Given the description of an element on the screen output the (x, y) to click on. 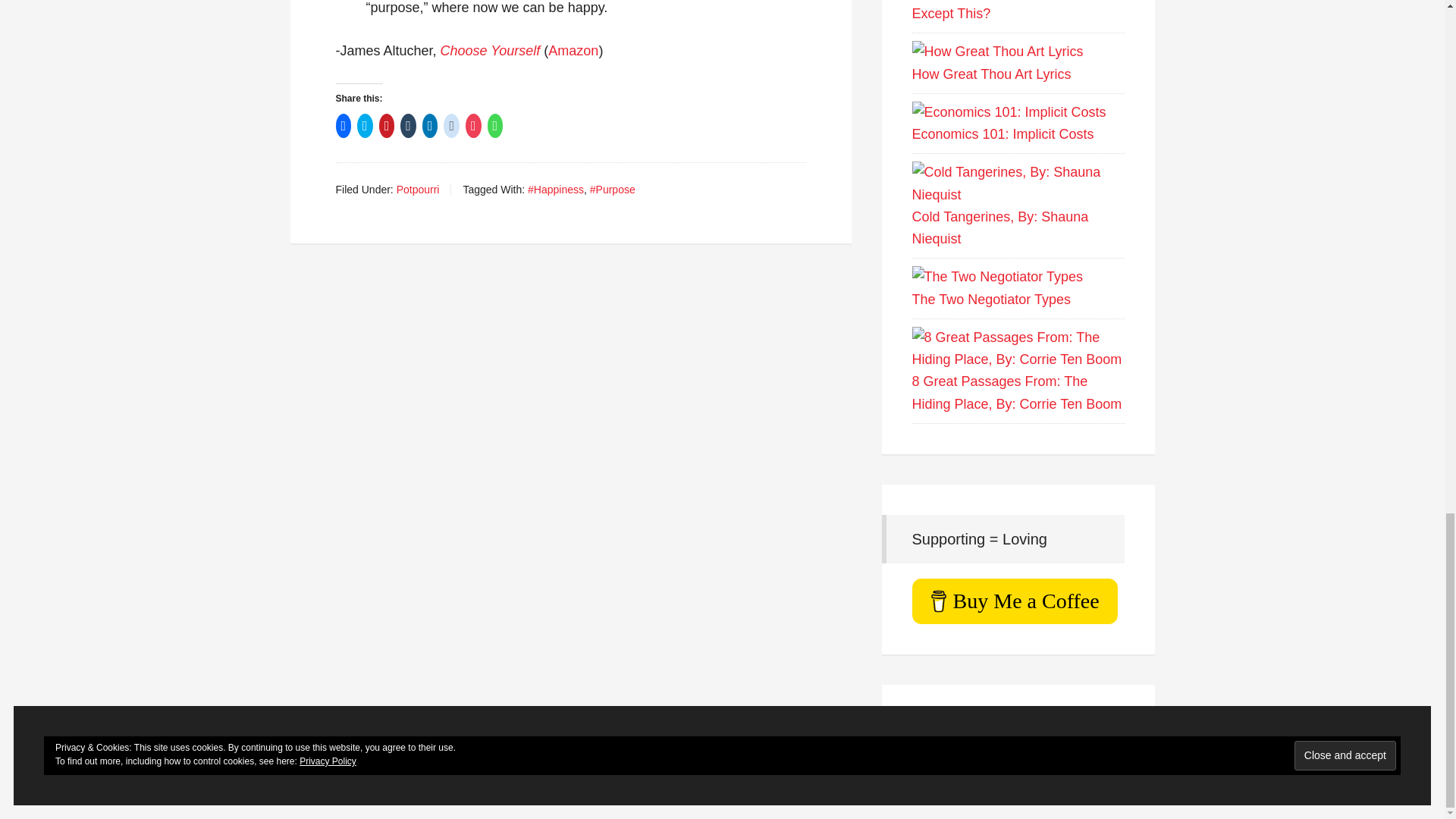
How Great Thou Art Lyrics (990, 73)
Potpourri (417, 189)
Amazon (573, 50)
How Great Thou Art Lyrics (997, 51)
Choose Yourself (490, 50)
God Gives Job Double Everything, Except This? (1016, 10)
